Given the description of an element on the screen output the (x, y) to click on. 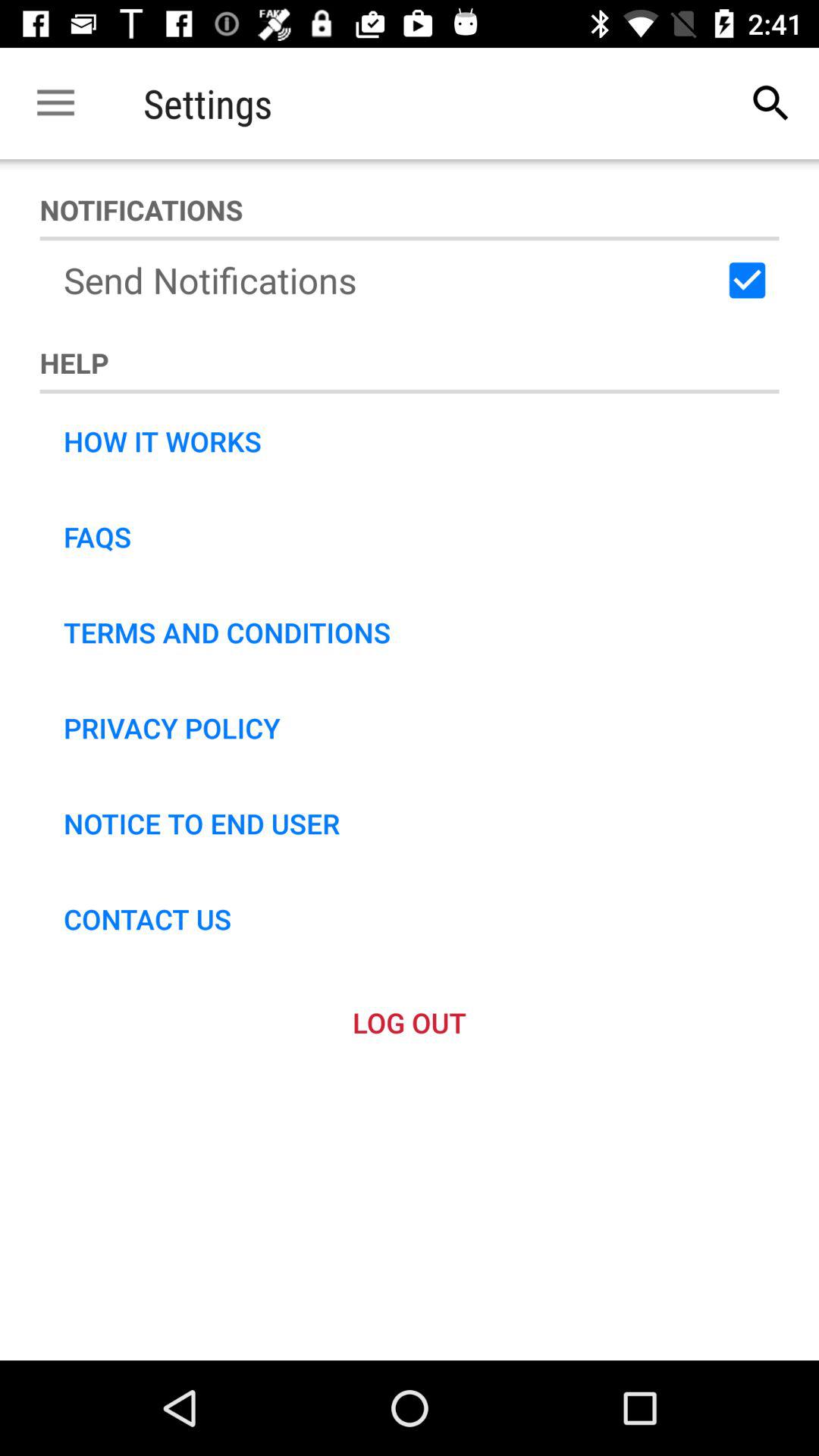
launch the icon next to the send notifications icon (747, 280)
